Given the description of an element on the screen output the (x, y) to click on. 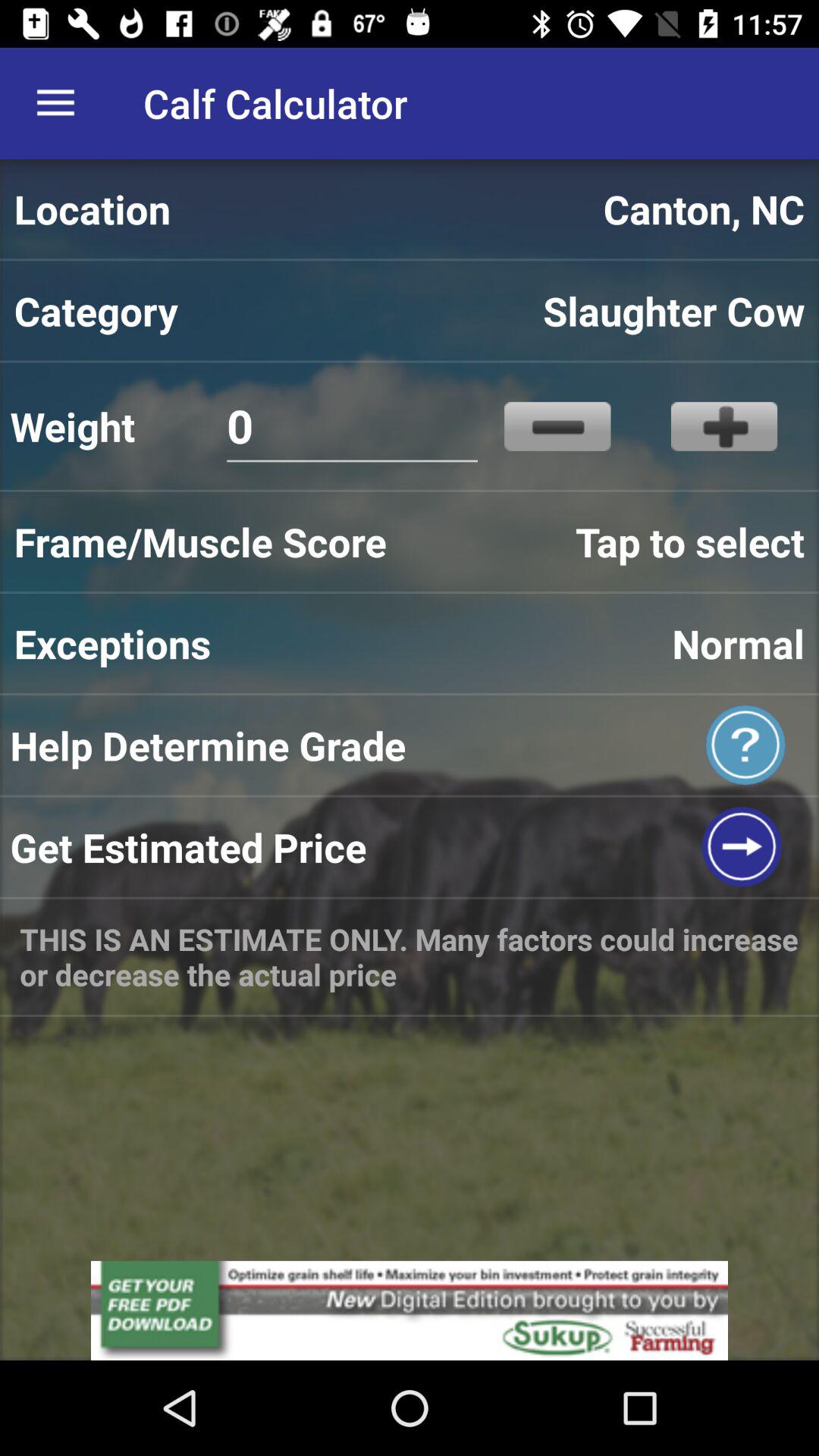
advertisement (409, 1310)
